Given the description of an element on the screen output the (x, y) to click on. 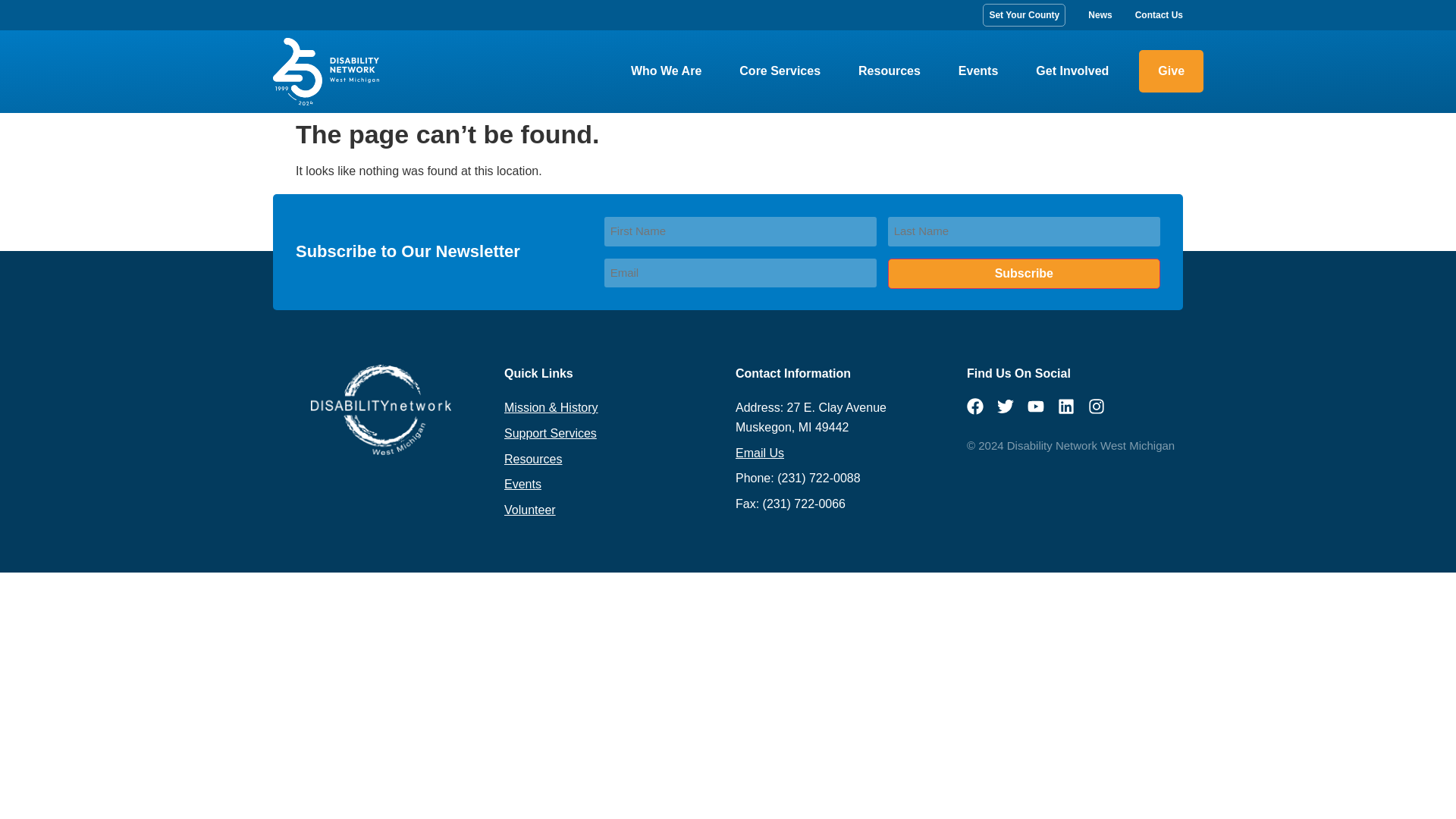
Events (977, 71)
News (1099, 14)
Get Involved (1071, 71)
Resources (889, 71)
Core Services (780, 71)
Set Your County (1023, 14)
Subscribe (1024, 273)
Contact Us (1158, 14)
Who We Are (665, 71)
